Given the description of an element on the screen output the (x, y) to click on. 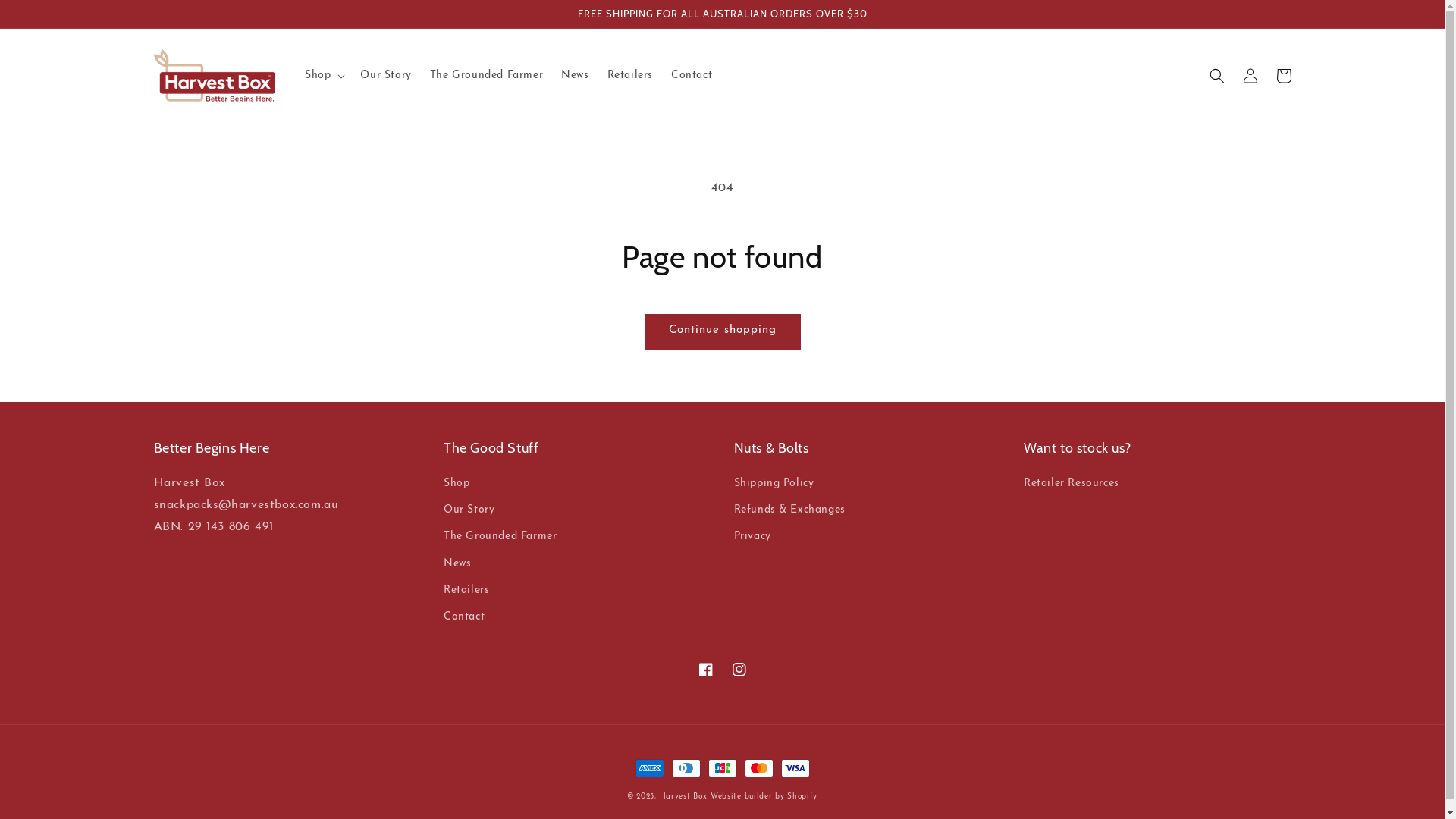
News Element type: text (574, 75)
Shipping Policy Element type: text (774, 484)
Instagram Element type: text (738, 669)
Refunds & Exchanges Element type: text (789, 509)
Retailers Element type: text (466, 590)
Shop Element type: text (456, 484)
Contact Element type: text (463, 616)
Our Story Element type: text (385, 75)
Our Story Element type: text (468, 509)
News Element type: text (456, 563)
Retailers Element type: text (630, 75)
The Grounded Farmer Element type: text (486, 75)
Privacy Element type: text (752, 536)
Website builder by Shopify Element type: text (763, 796)
Continue shopping Element type: text (721, 331)
Facebook Element type: text (704, 669)
The Grounded Farmer Element type: text (499, 536)
Harvest Box Element type: text (683, 796)
Cart Element type: text (1282, 75)
Retailer Resources Element type: text (1071, 484)
Log in Element type: text (1249, 75)
Contact Element type: text (691, 75)
